Given the description of an element on the screen output the (x, y) to click on. 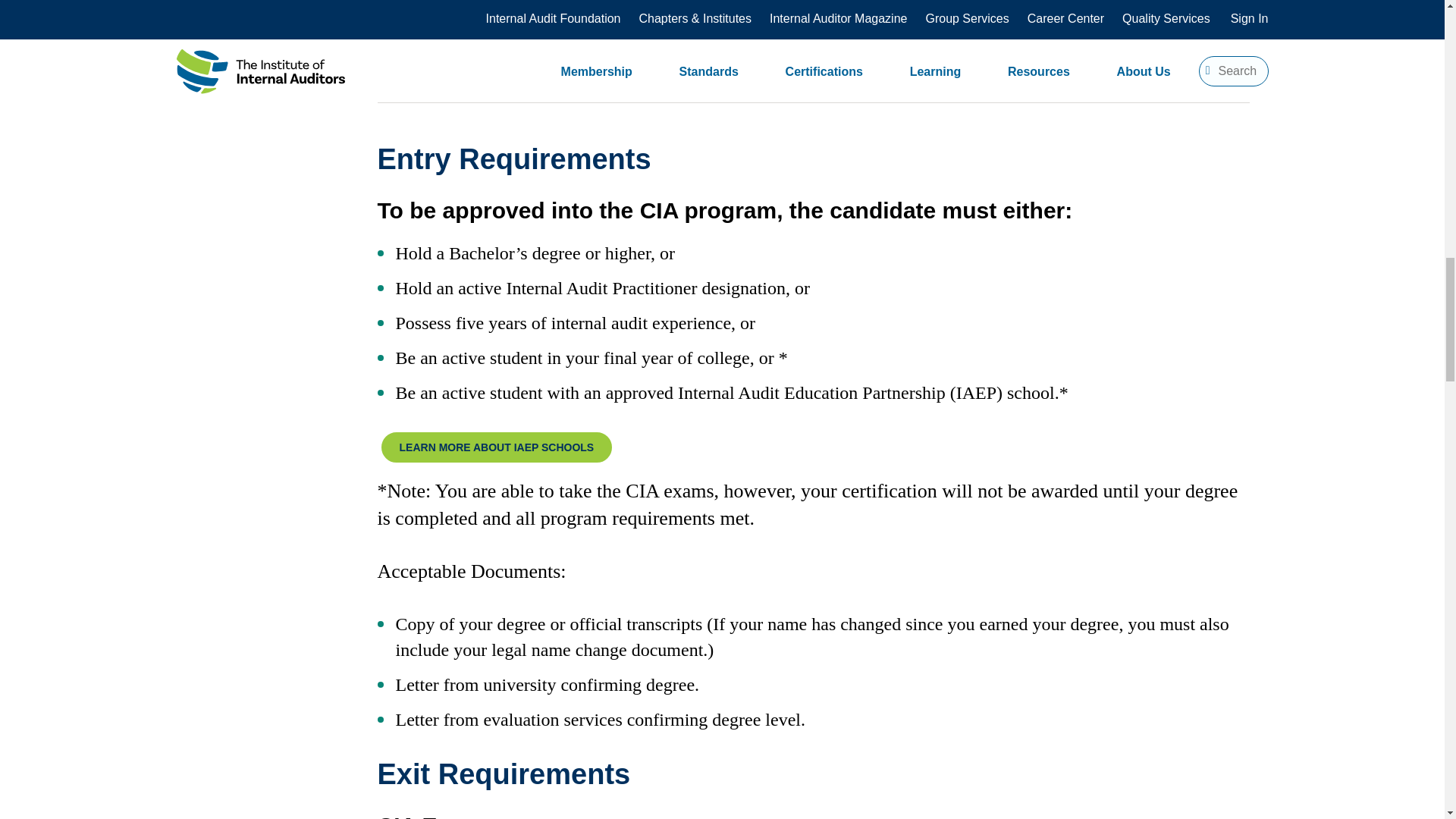
Learn More about IAEP Schools (496, 447)
